Given the description of an element on the screen output the (x, y) to click on. 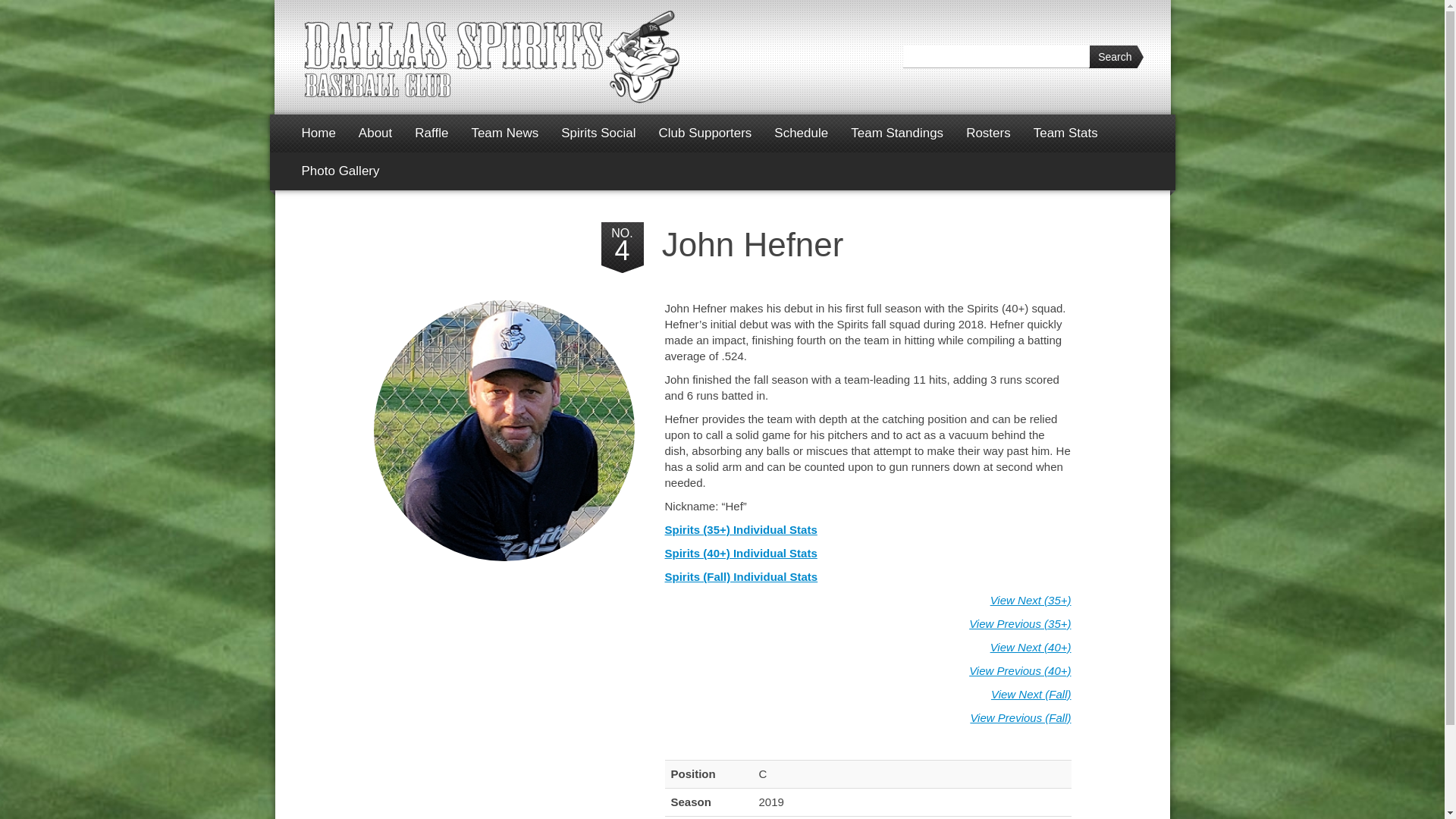
Team News (505, 133)
Photo Gallery (339, 171)
Home (317, 133)
Search (1115, 56)
Club Supporters (704, 133)
Rosters (988, 133)
Team Stats (1065, 133)
About (375, 133)
Schedule (801, 133)
Spirits Social (598, 133)
Team Standings (897, 133)
Raffle (431, 133)
